Given the description of an element on the screen output the (x, y) to click on. 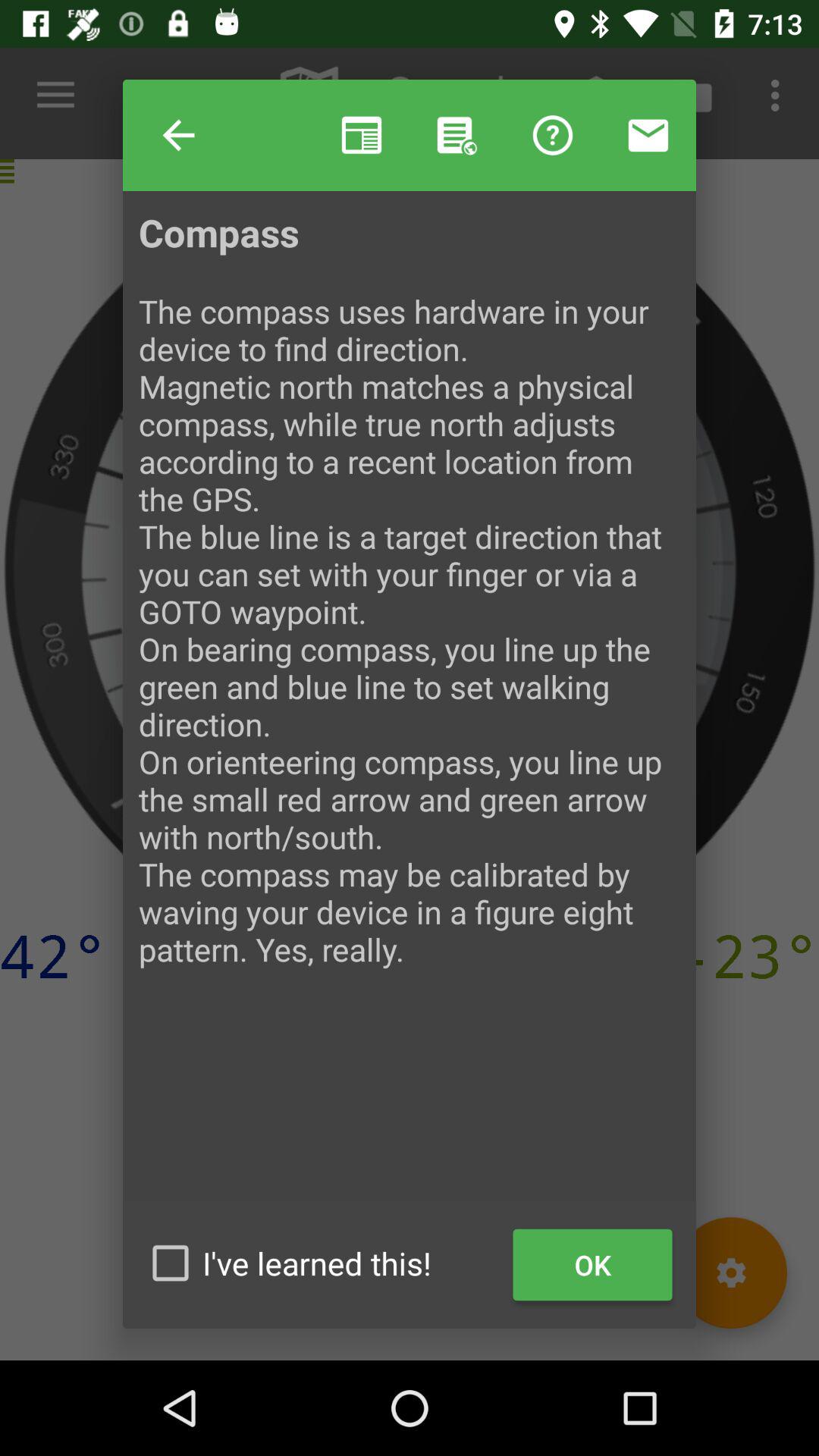
launch the icon below the compass the compass (321, 1263)
